Given the description of an element on the screen output the (x, y) to click on. 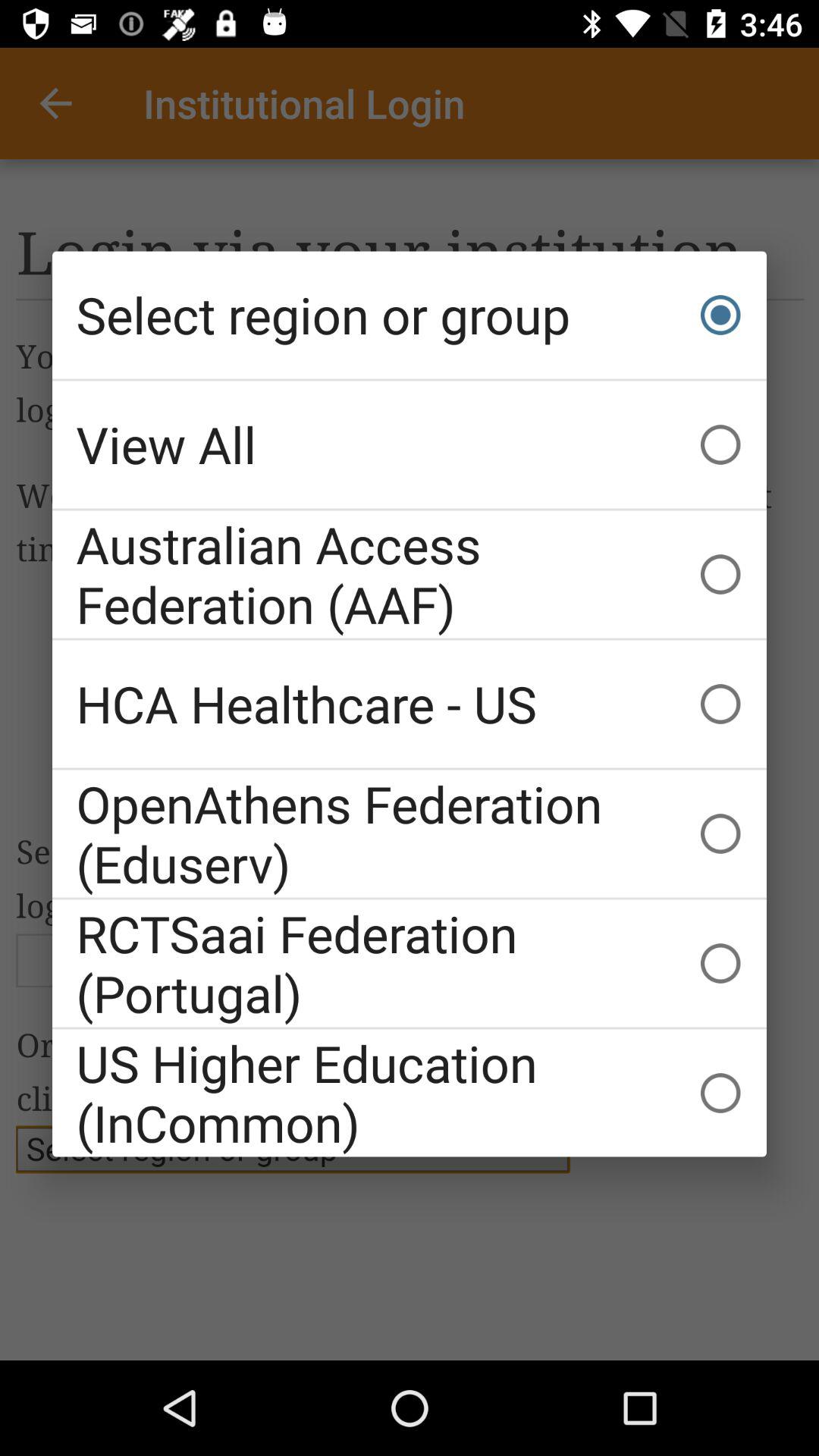
open the icon below the rctsaai federation (portugal) icon (409, 1092)
